Given the description of an element on the screen output the (x, y) to click on. 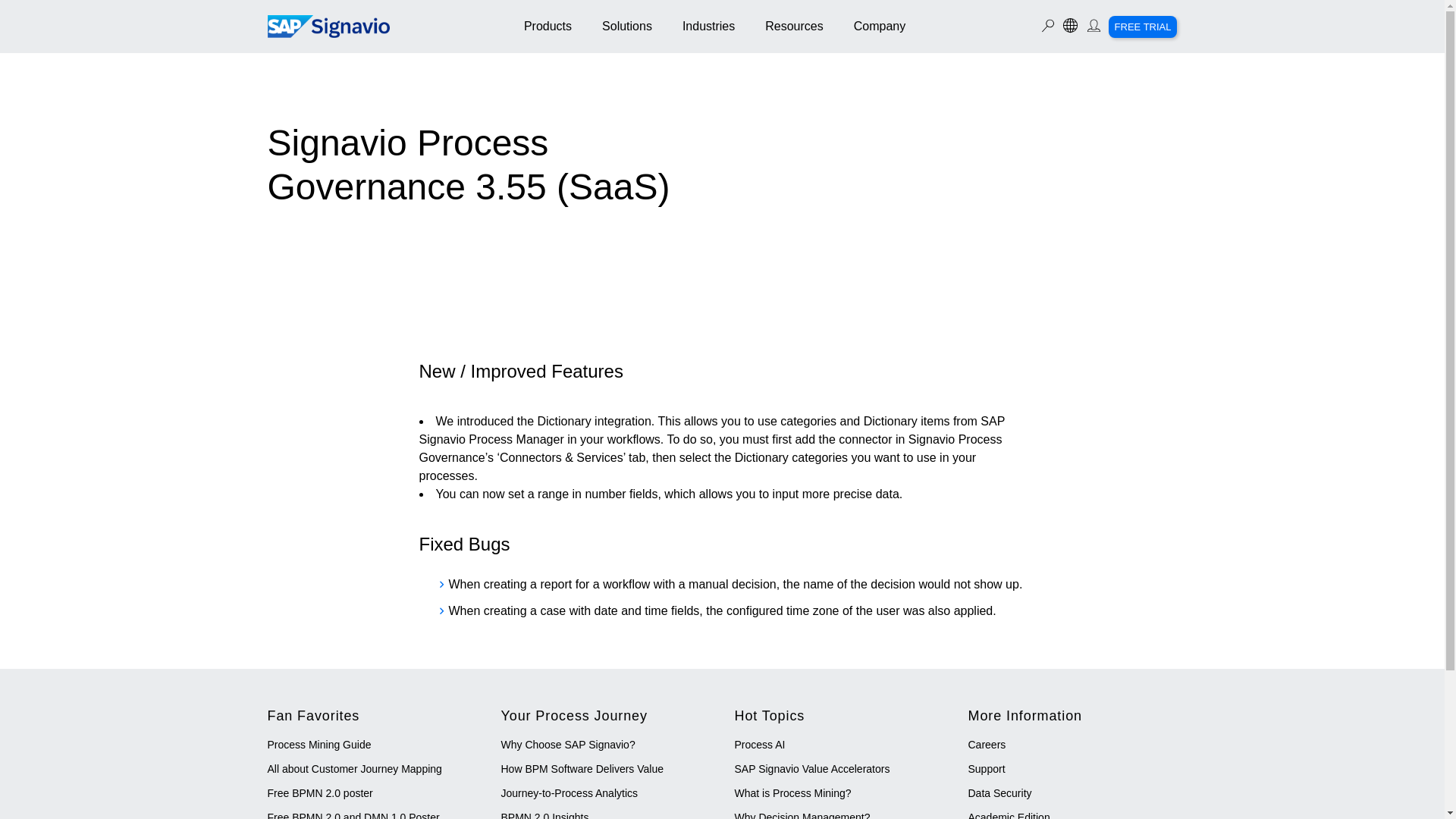
SAP Signavio Logo (327, 26)
Solutions (627, 26)
Resources (793, 26)
Industries (708, 26)
Products (548, 26)
